Given the description of an element on the screen output the (x, y) to click on. 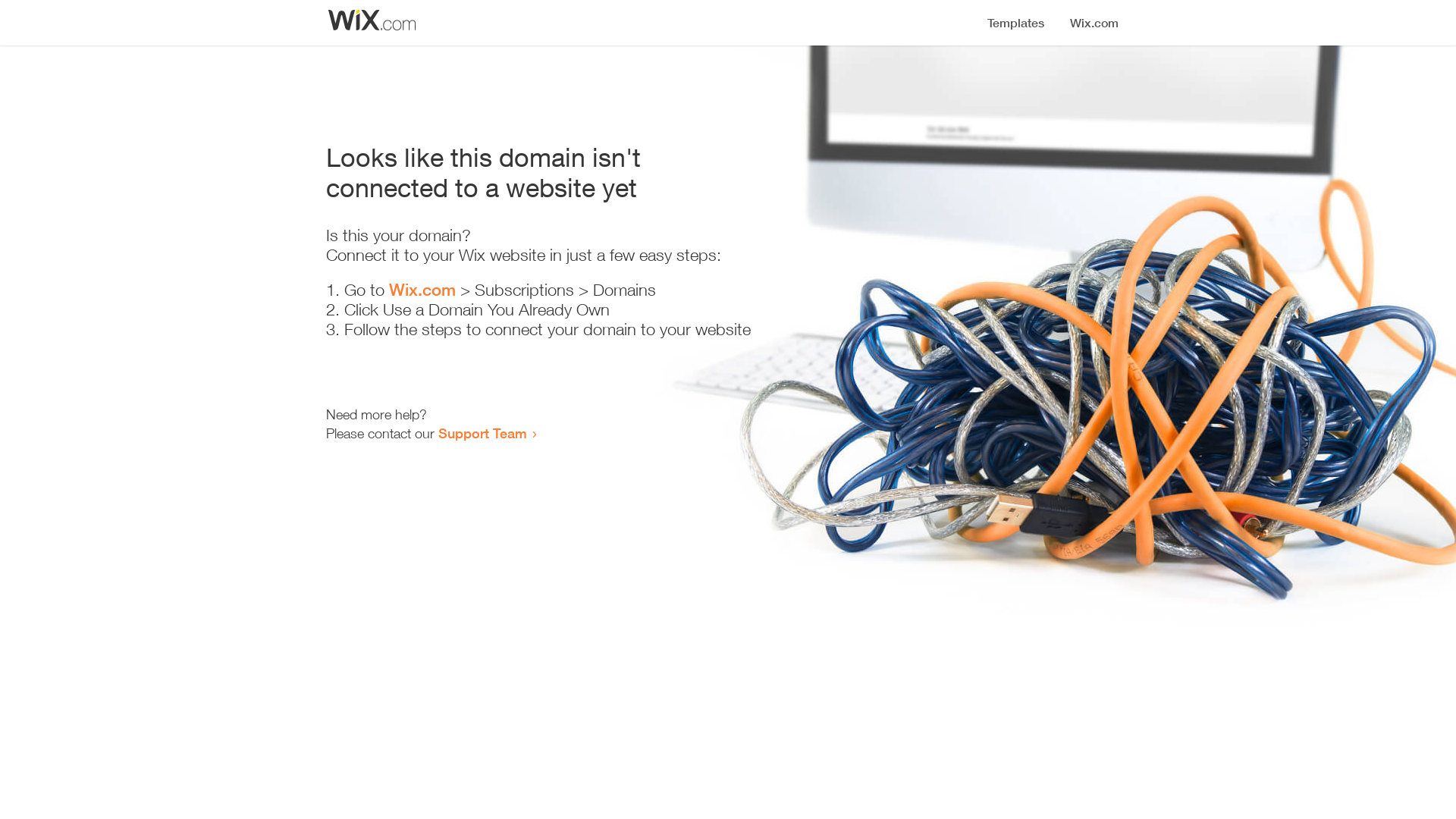
Wix.com Element type: text (422, 289)
Support Team Element type: text (482, 432)
